Given the description of an element on the screen output the (x, y) to click on. 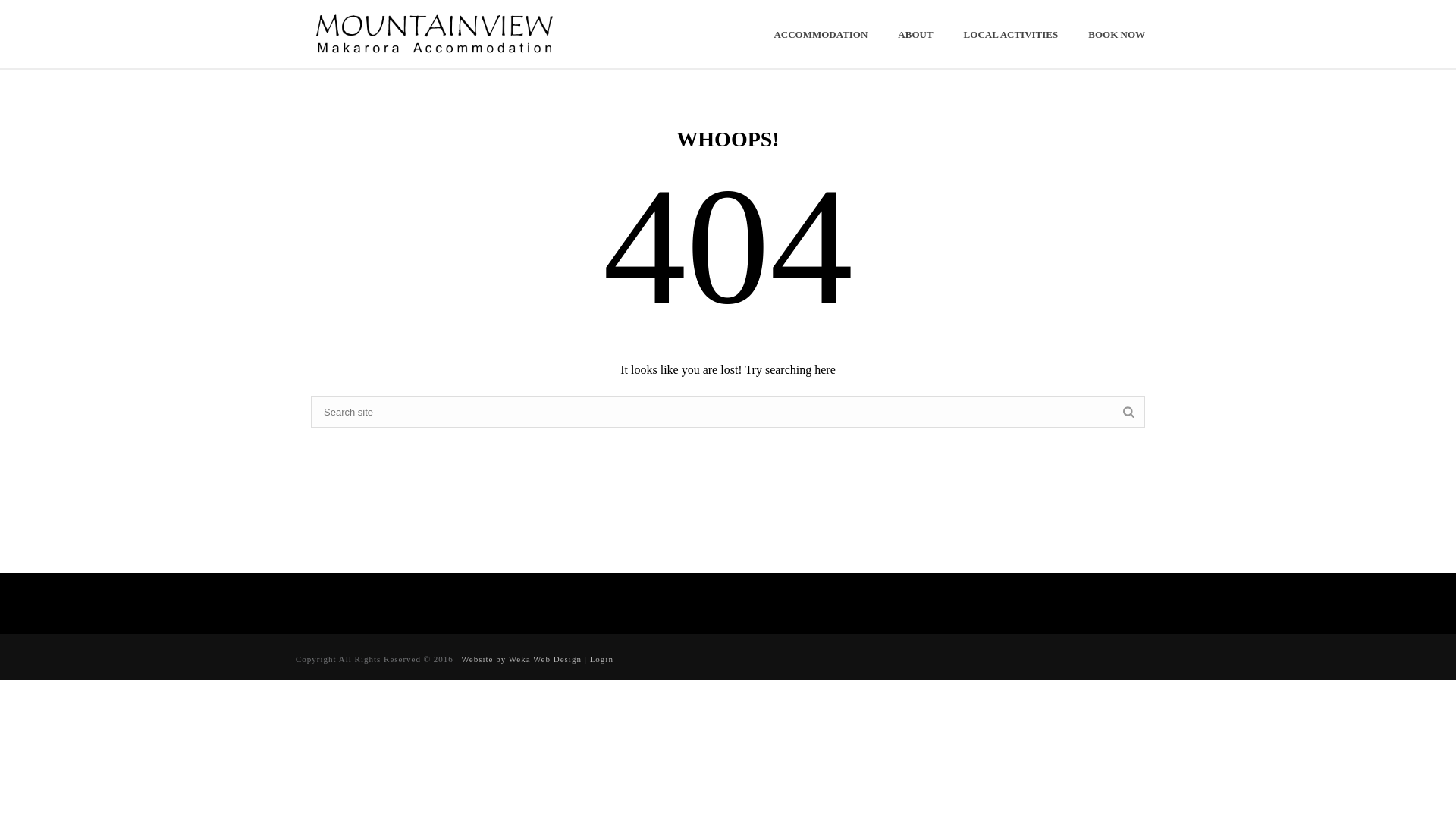
ABOUT (914, 34)
ACCOMMODATION (820, 34)
Login (600, 658)
LOCAL ACTIVITIES (1011, 34)
ABOUT (914, 34)
BOOK NOW (1116, 34)
LOCAL ACTIVITIES (1011, 34)
Website by Weka Web Design (520, 658)
Enjoy the Wilderness (442, 33)
BOOK NOW (1116, 34)
ACCOMMODATION (820, 34)
